Given the description of an element on the screen output the (x, y) to click on. 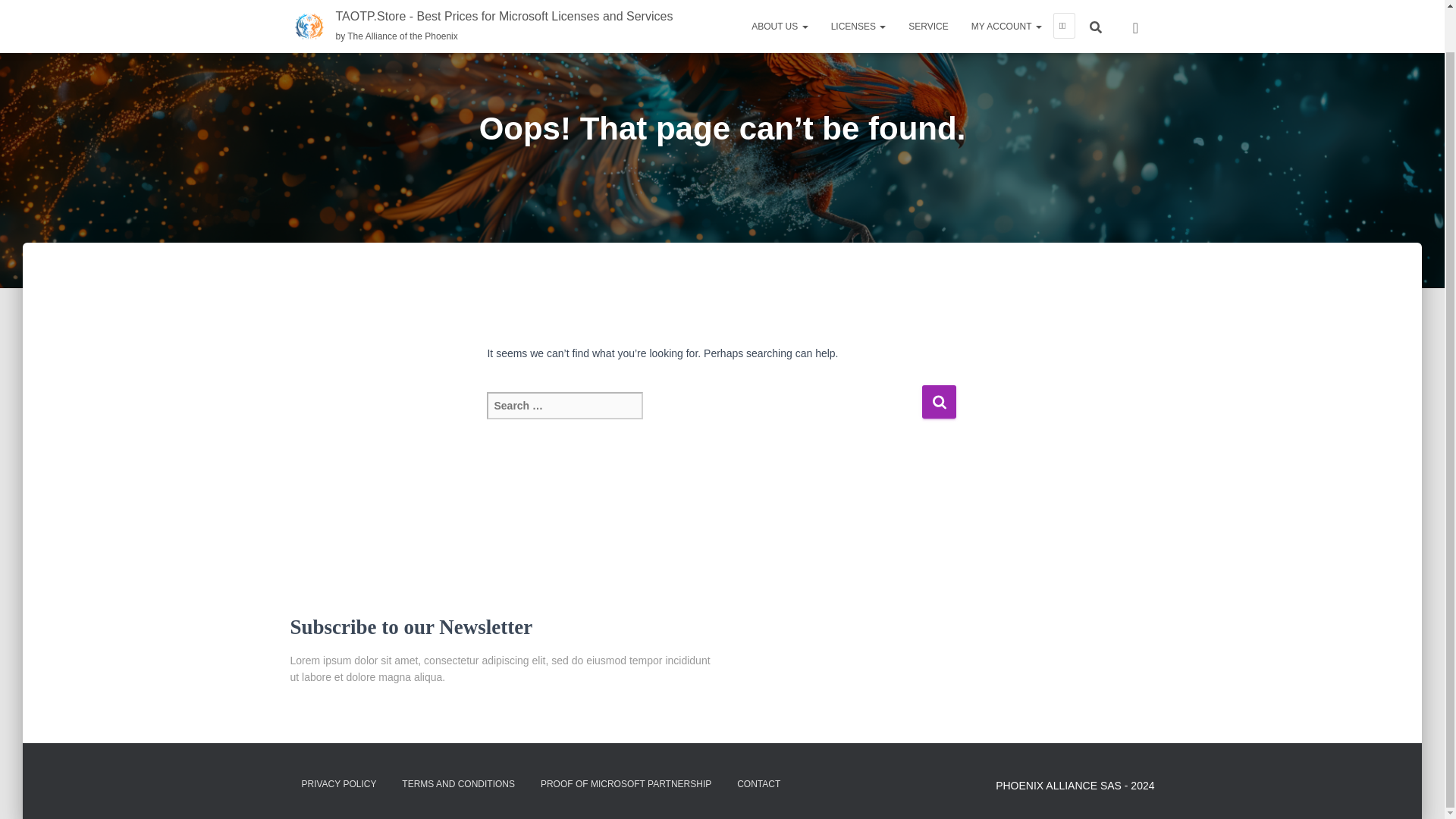
Search (938, 400)
Search (938, 400)
TERMS AND CONDITIONS (457, 784)
CONTACT (758, 784)
Service (927, 0)
